Given the description of an element on the screen output the (x, y) to click on. 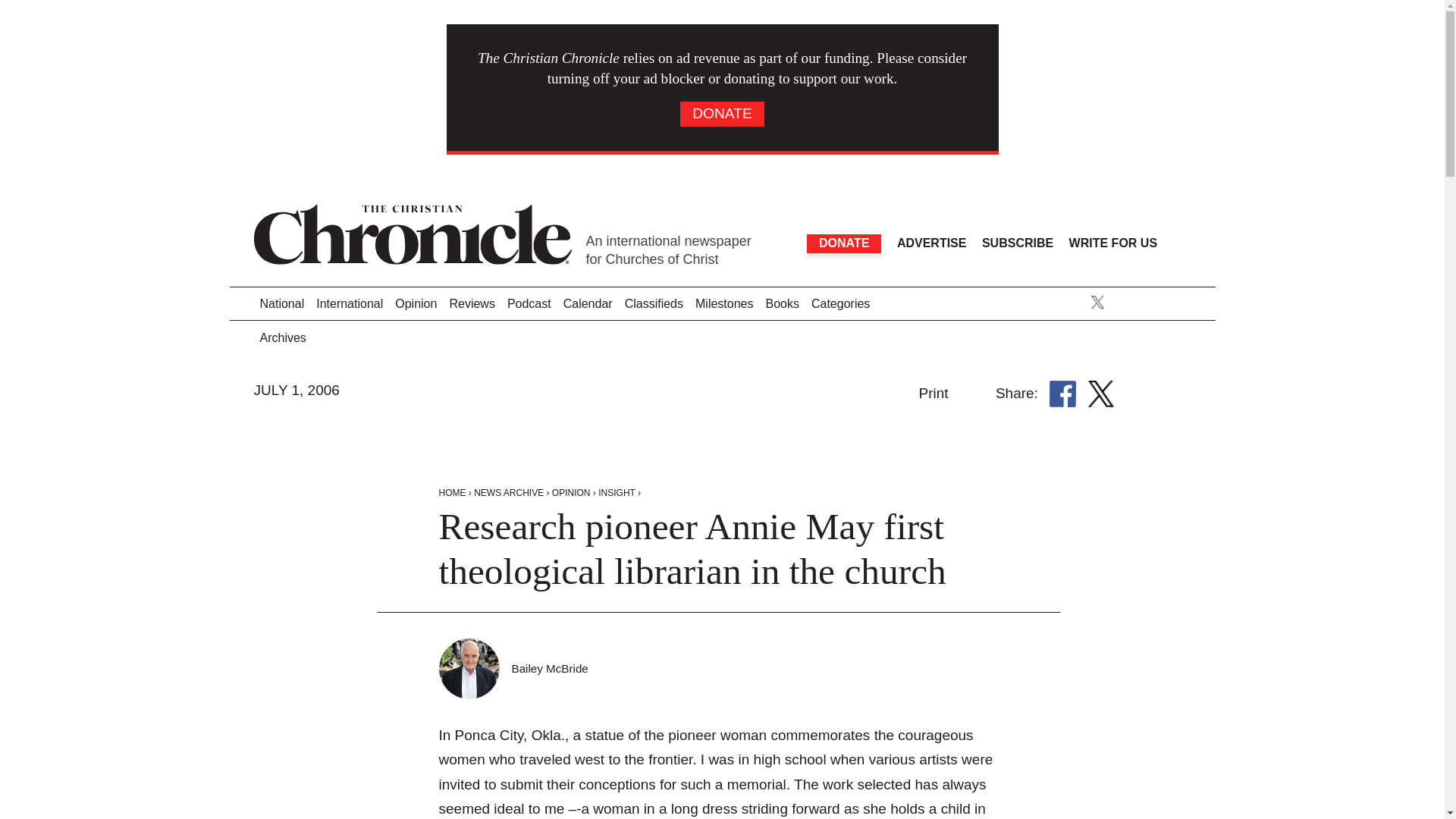
Calendar (587, 304)
Reviews (471, 304)
Books (781, 304)
Podcast (528, 304)
WRITE FOR US (1112, 243)
Opinion (415, 304)
Milestones (723, 304)
DONATE (843, 243)
SUBSCRIBE (1016, 243)
ADVERTISE (931, 243)
Classifieds (653, 304)
International (348, 304)
Christian Chronicle (549, 668)
